Given the description of an element on the screen output the (x, y) to click on. 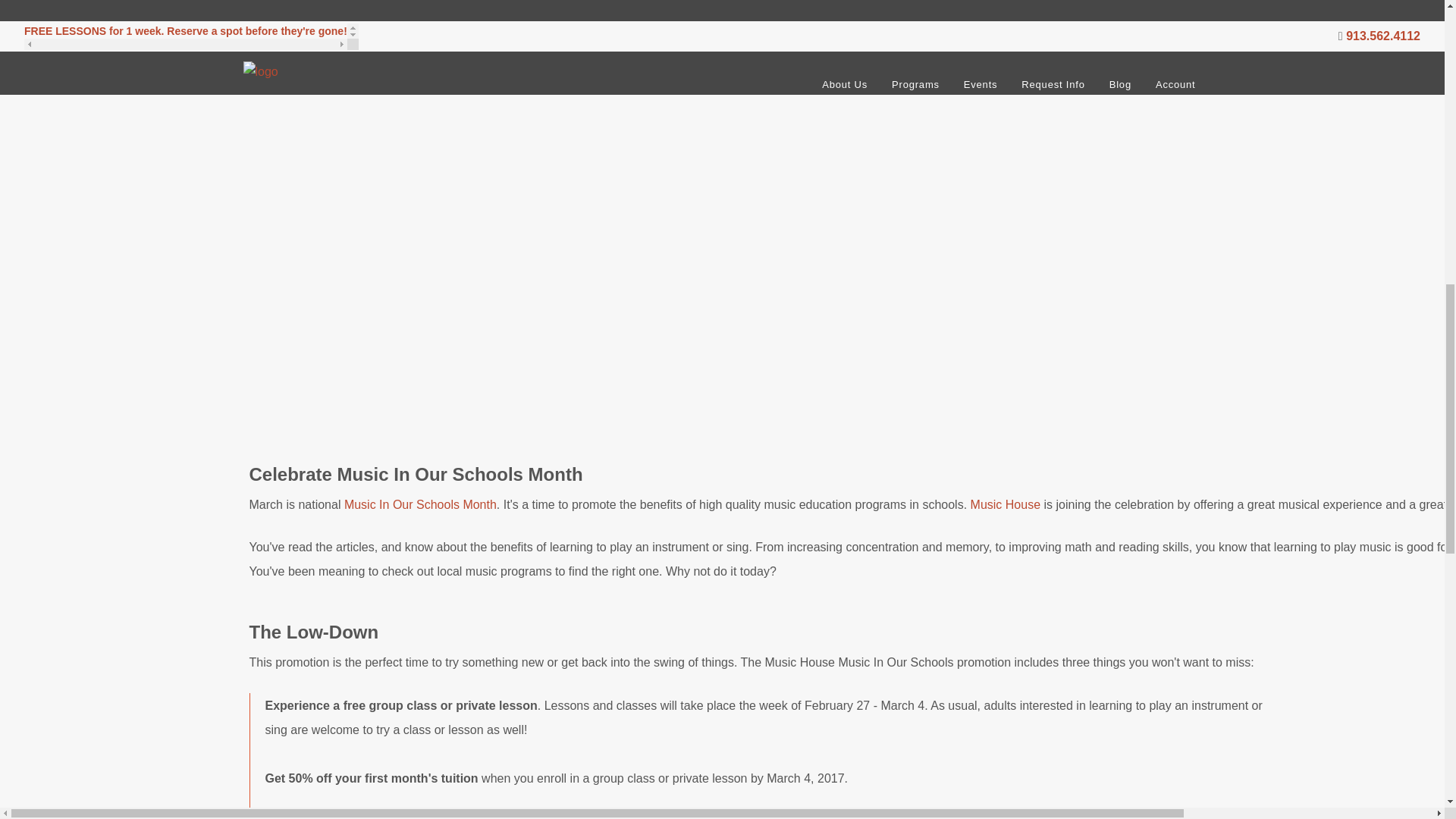
Music In Our Schools Month (419, 504)
Music House (1006, 504)
